Given the description of an element on the screen output the (x, y) to click on. 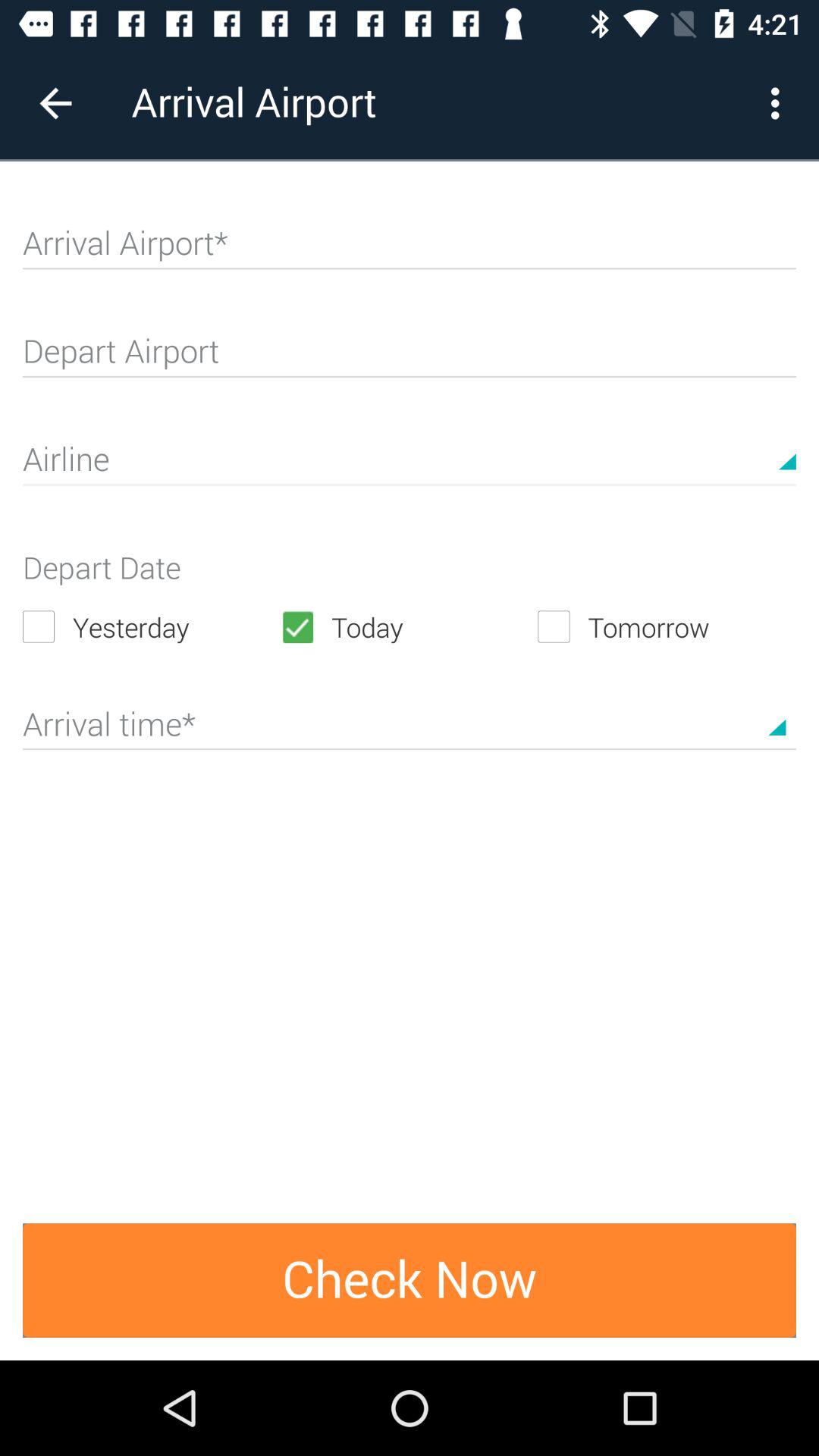
flip until the tomorrow icon (667, 626)
